Given the description of an element on the screen output the (x, y) to click on. 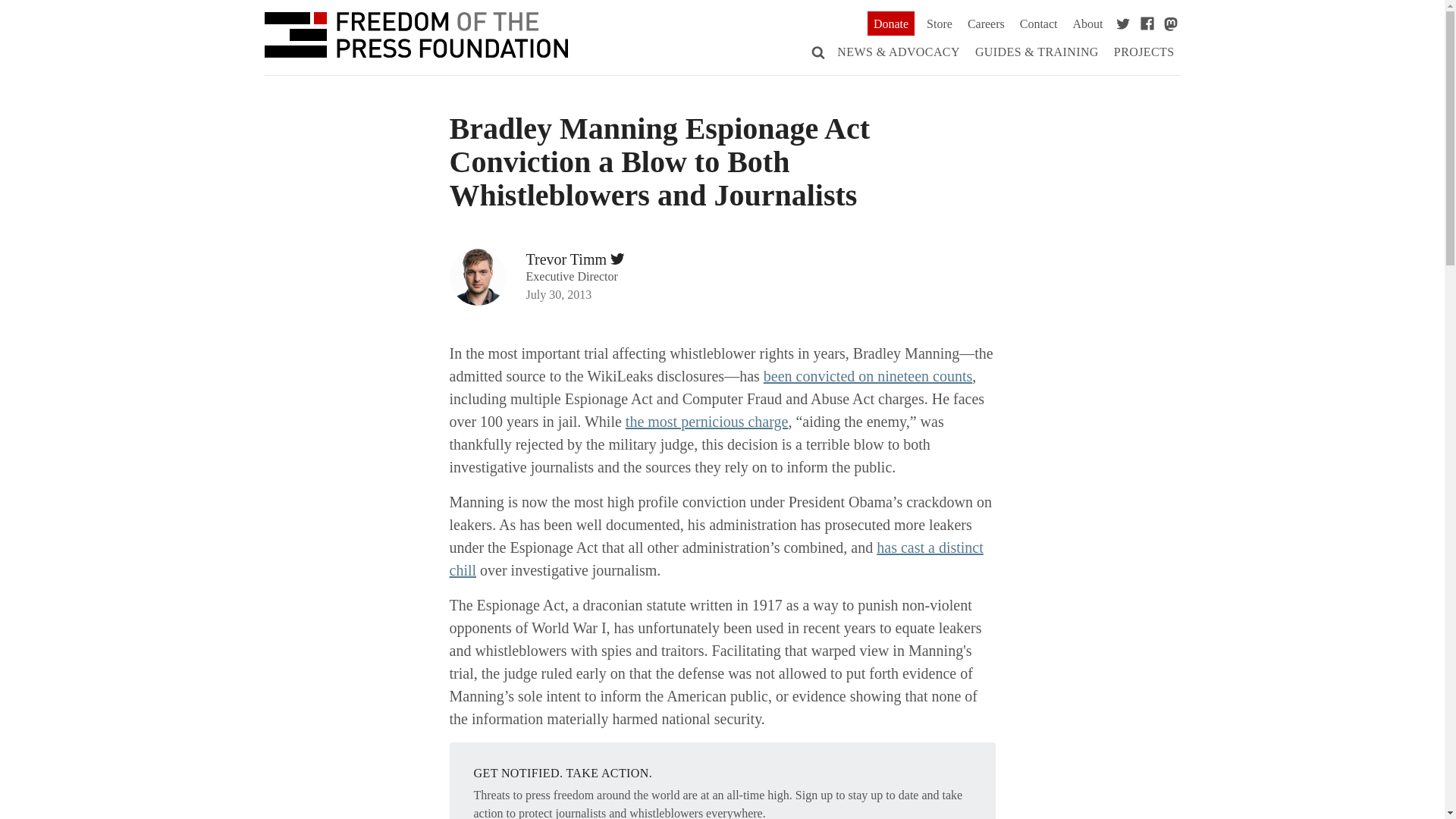
has cast a distinct chill (715, 558)
been convicted on nineteen counts (867, 375)
PROJECTS (1144, 51)
Trevor Timm (566, 258)
the most pernicious charge (707, 421)
Contact (1038, 23)
Freedom of the Press Foundation (415, 37)
Store (939, 23)
Careers (985, 23)
About (1086, 23)
